Given the description of an element on the screen output the (x, y) to click on. 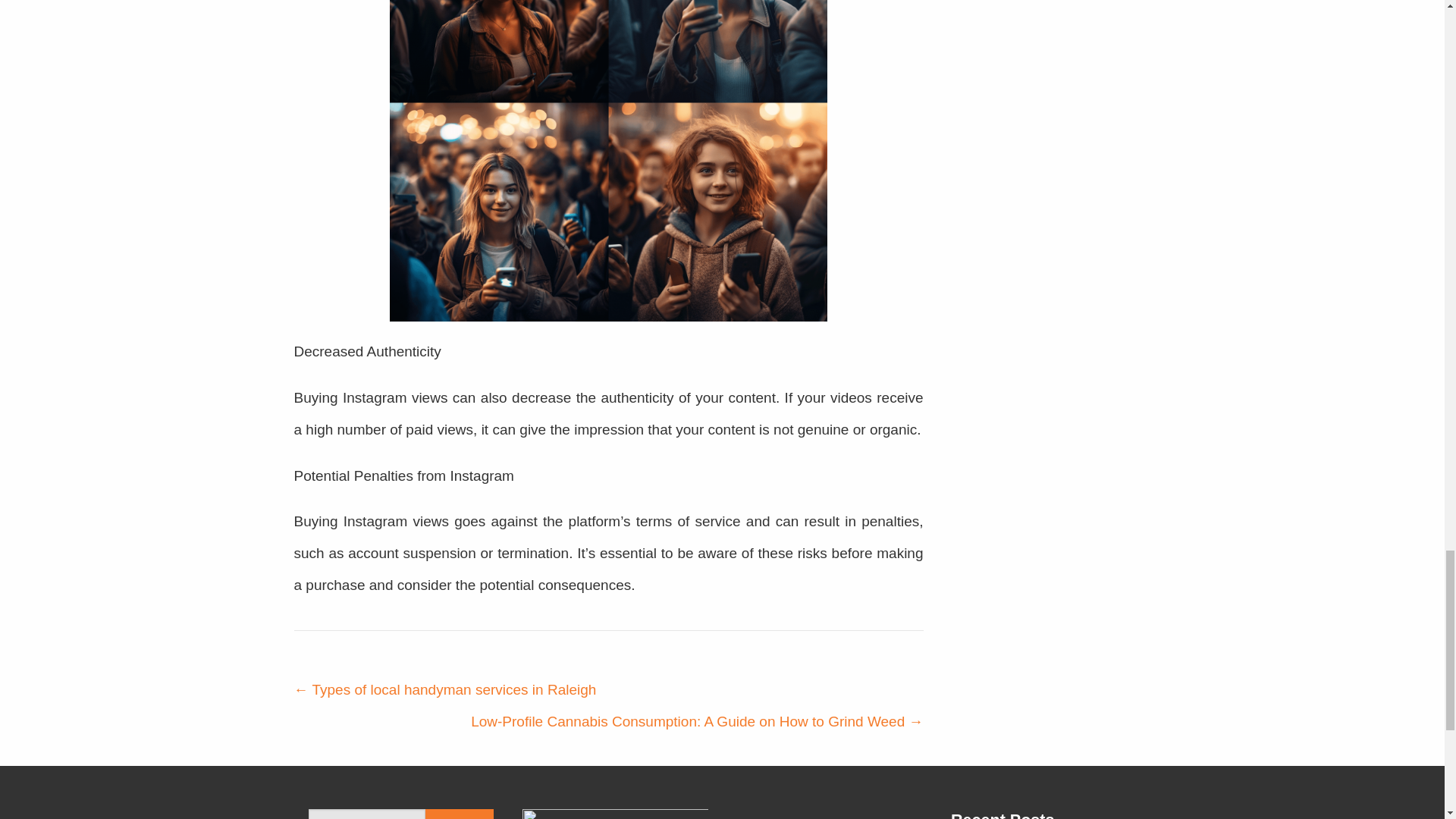
Search (459, 814)
Types of local handyman services in Raleigh (445, 689)
Search (459, 814)
